Given the description of an element on the screen output the (x, y) to click on. 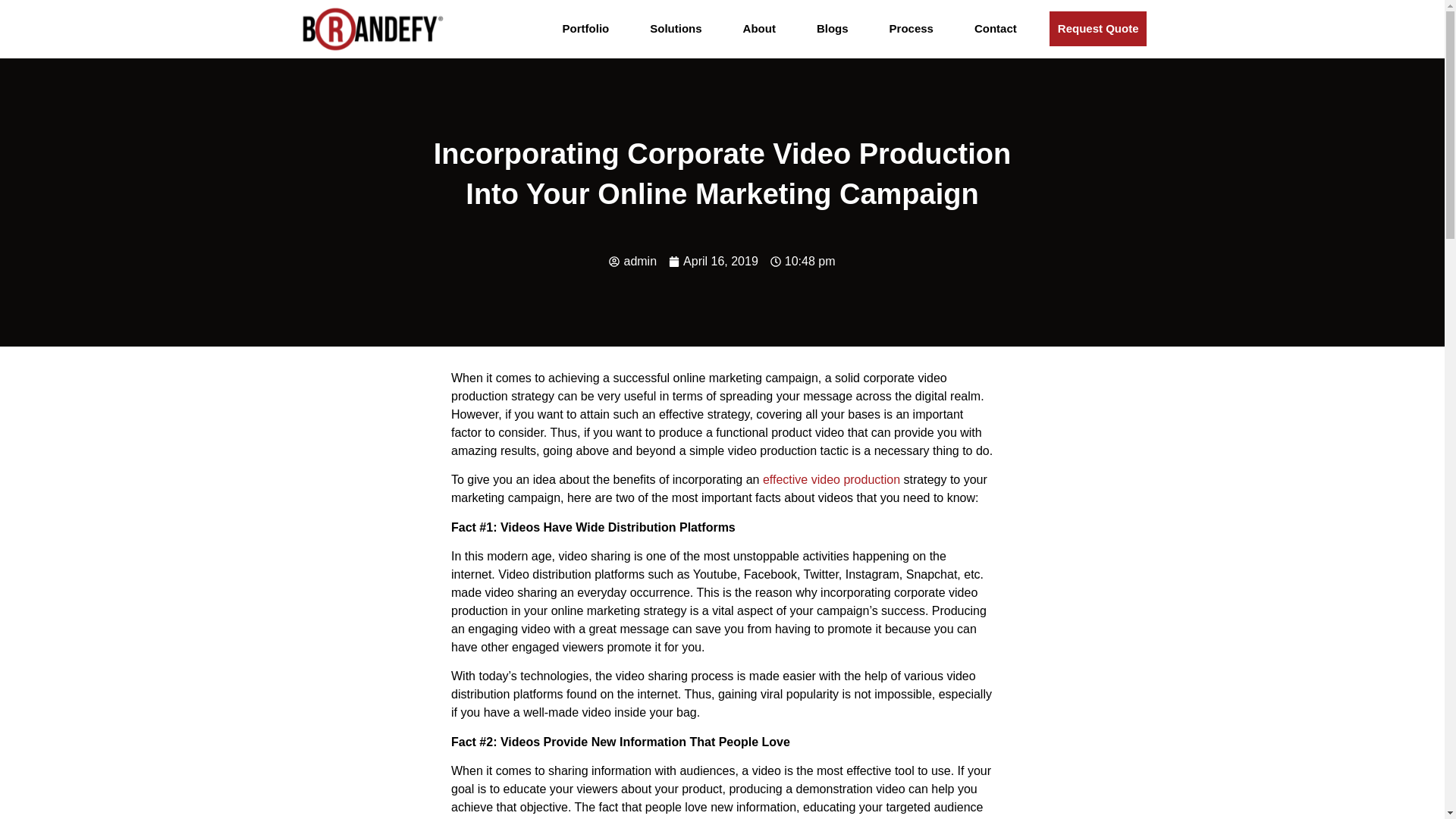
Request Quote (1098, 28)
Contact (995, 28)
Blogs (832, 28)
About (759, 28)
effective video production (830, 479)
Process (911, 28)
Solutions (676, 28)
admin (632, 261)
Portfolio (585, 28)
